Given the description of an element on the screen output the (x, y) to click on. 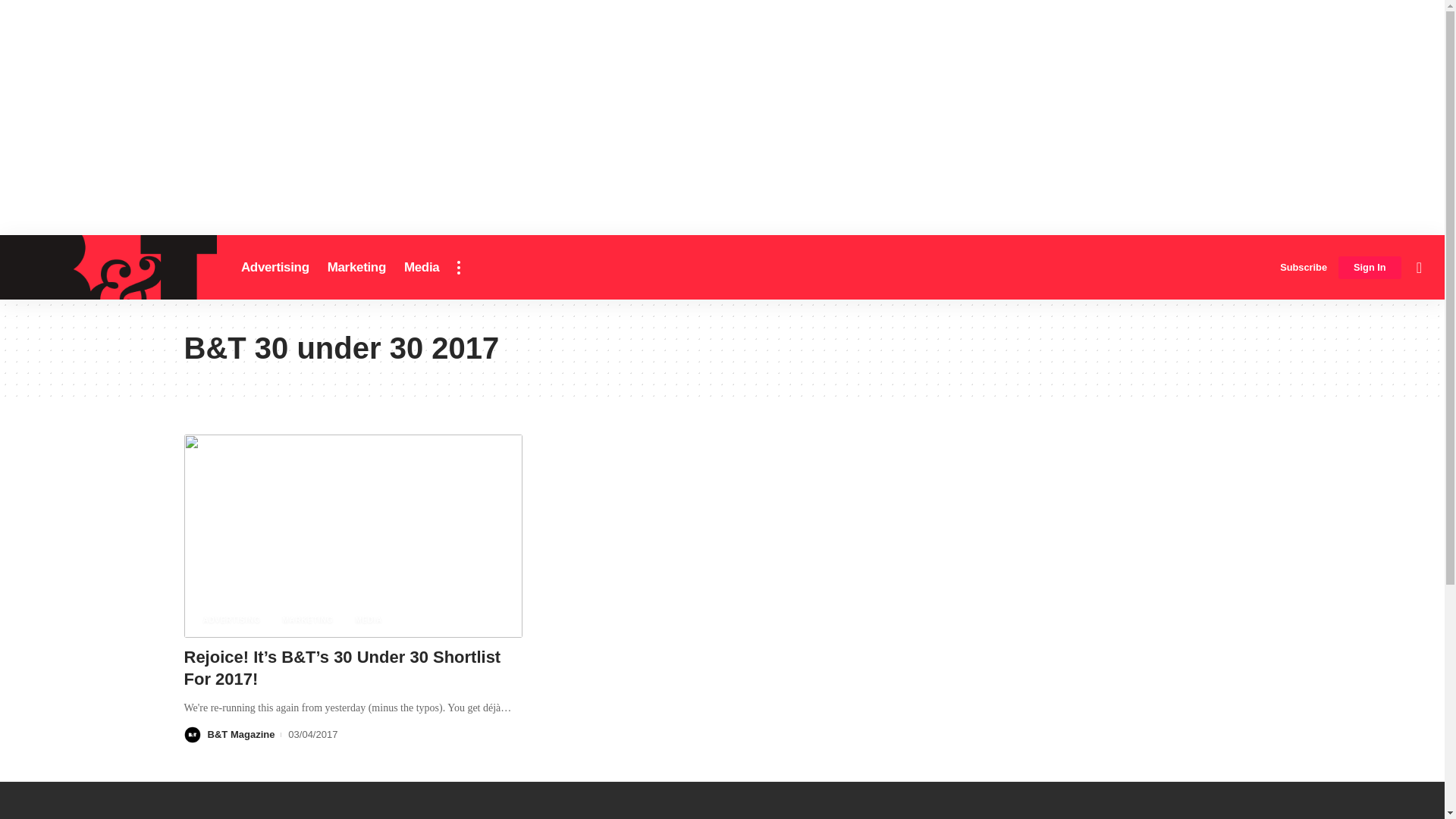
Sign In (1369, 267)
Advertising (274, 267)
Marketing (356, 267)
